Given the description of an element on the screen output the (x, y) to click on. 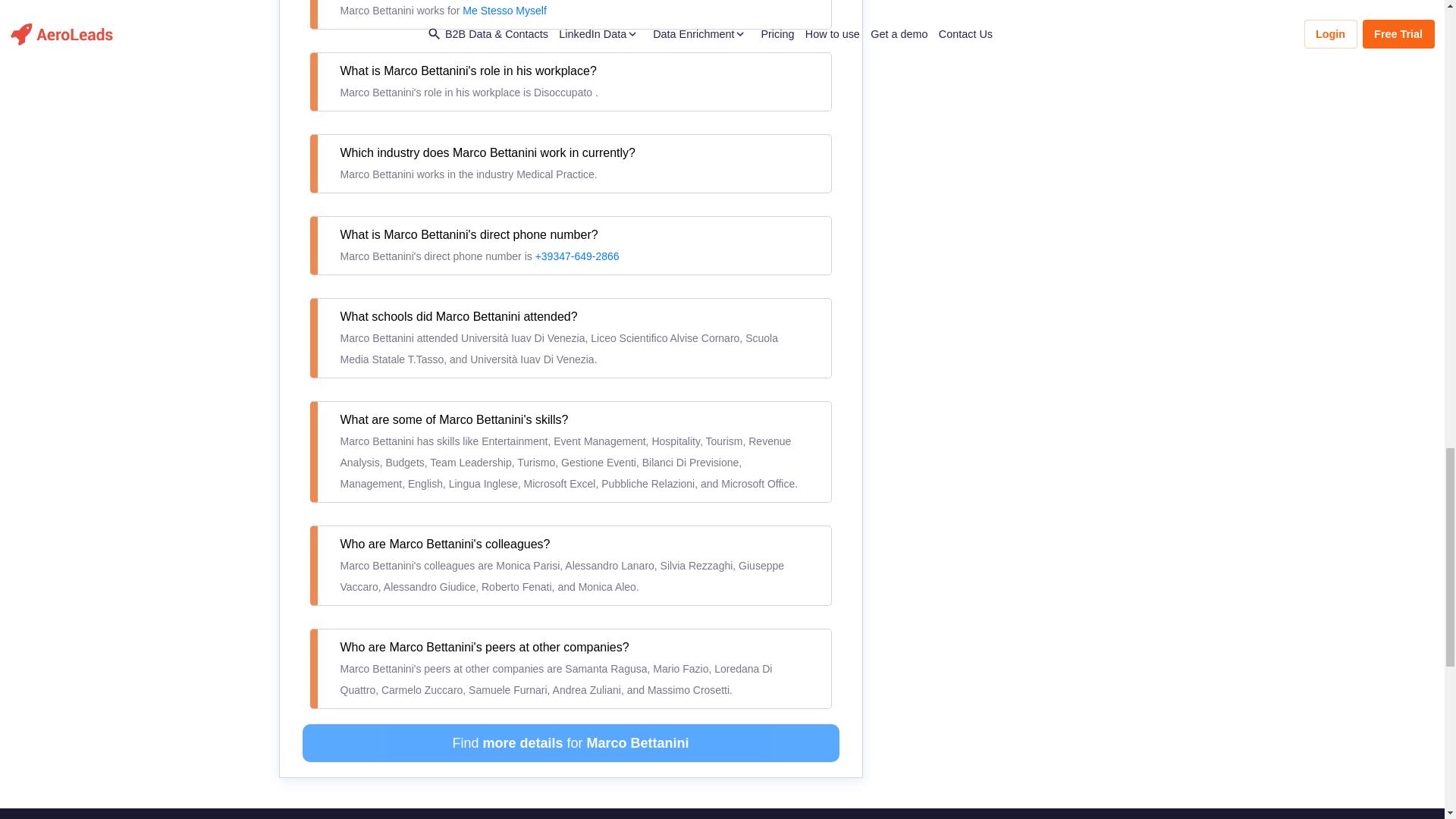
Find more details for Marco Bettanini (569, 742)
See phone number of Marco Bettanini (577, 256)
See more details of Me Stesso   Myself (504, 10)
Me Stesso Myself (504, 10)
